Given the description of an element on the screen output the (x, y) to click on. 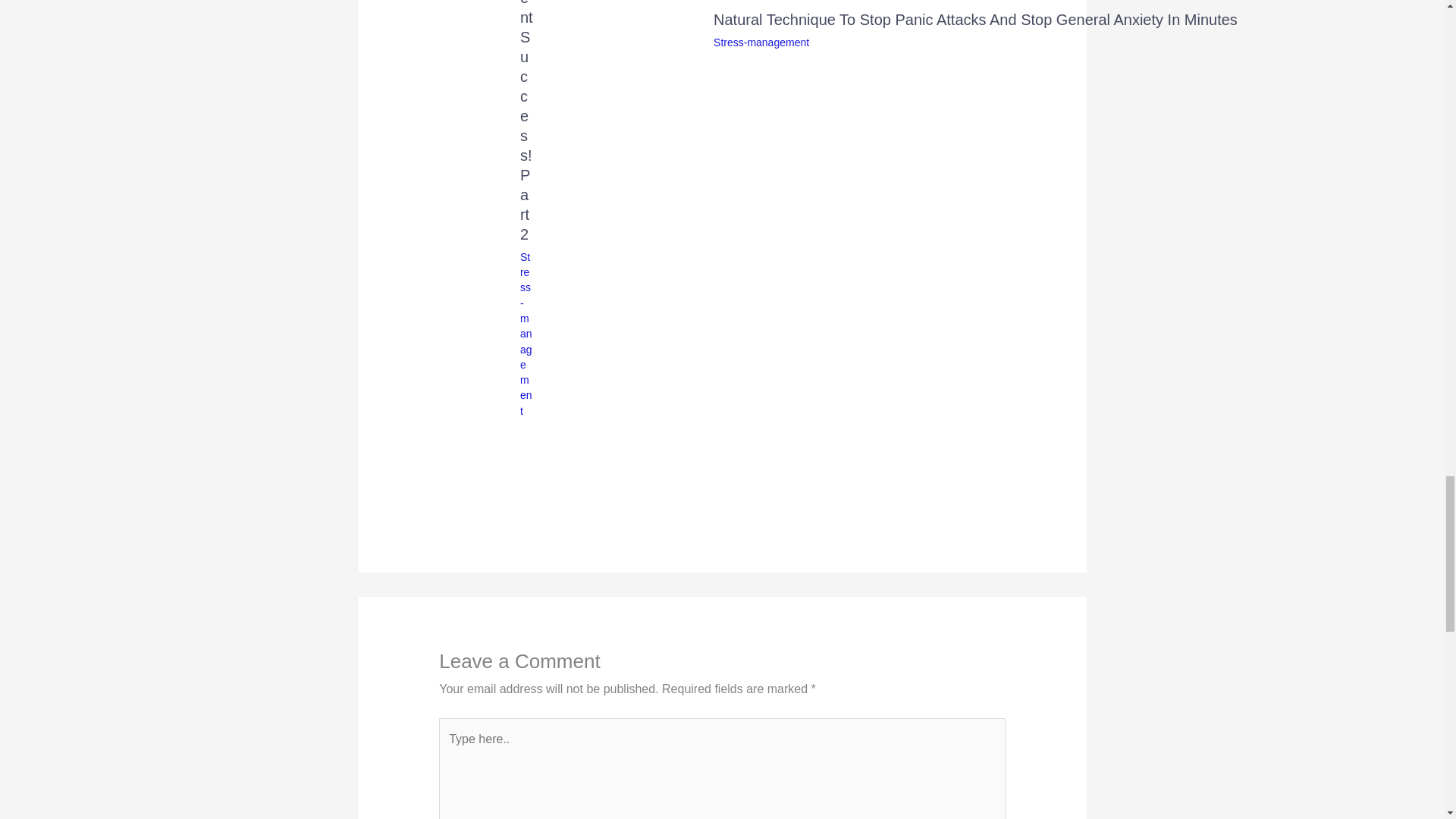
Stress-management (761, 42)
